Given the description of an element on the screen output the (x, y) to click on. 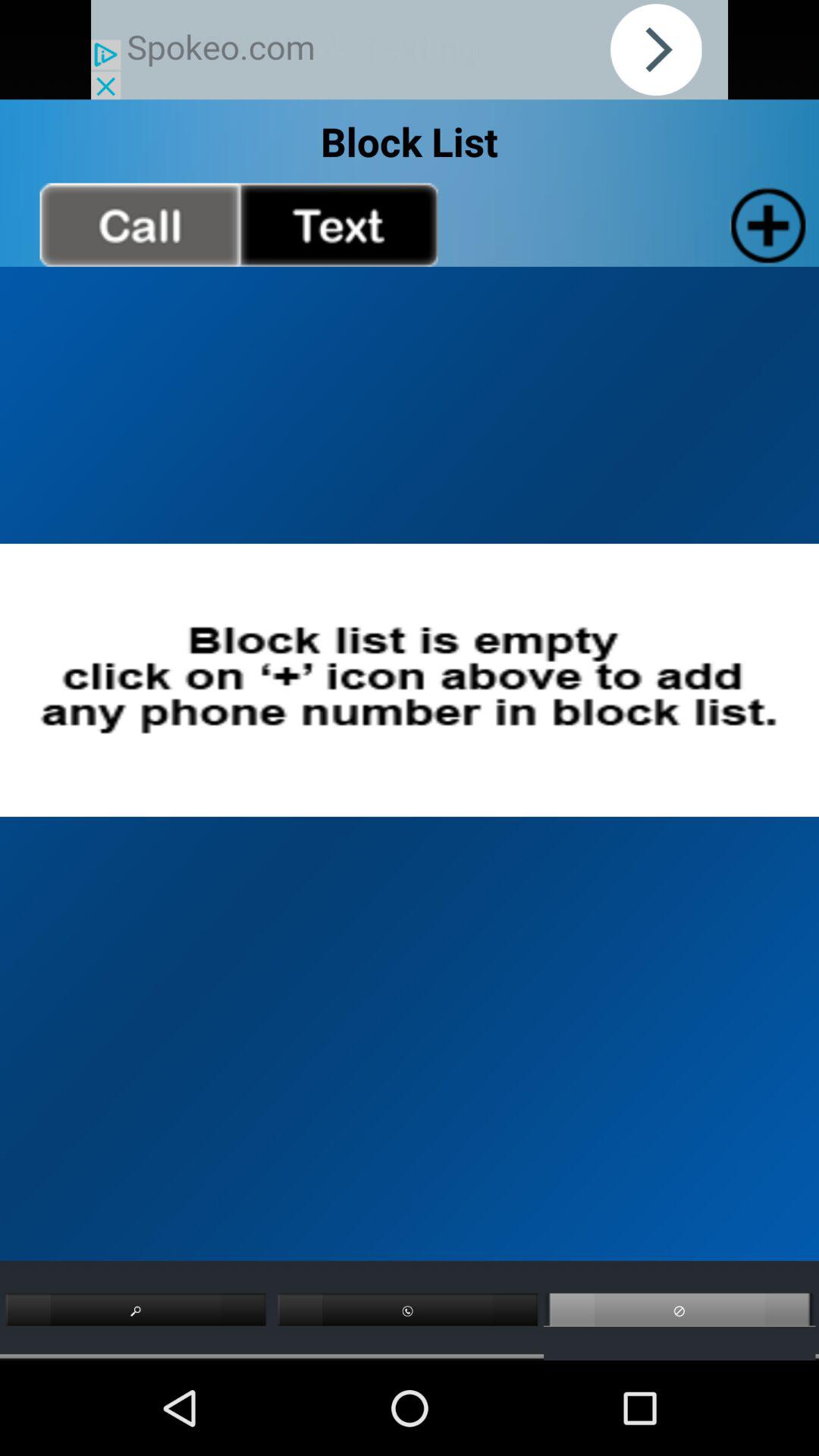
new text message (337, 224)
